Given the description of an element on the screen output the (x, y) to click on. 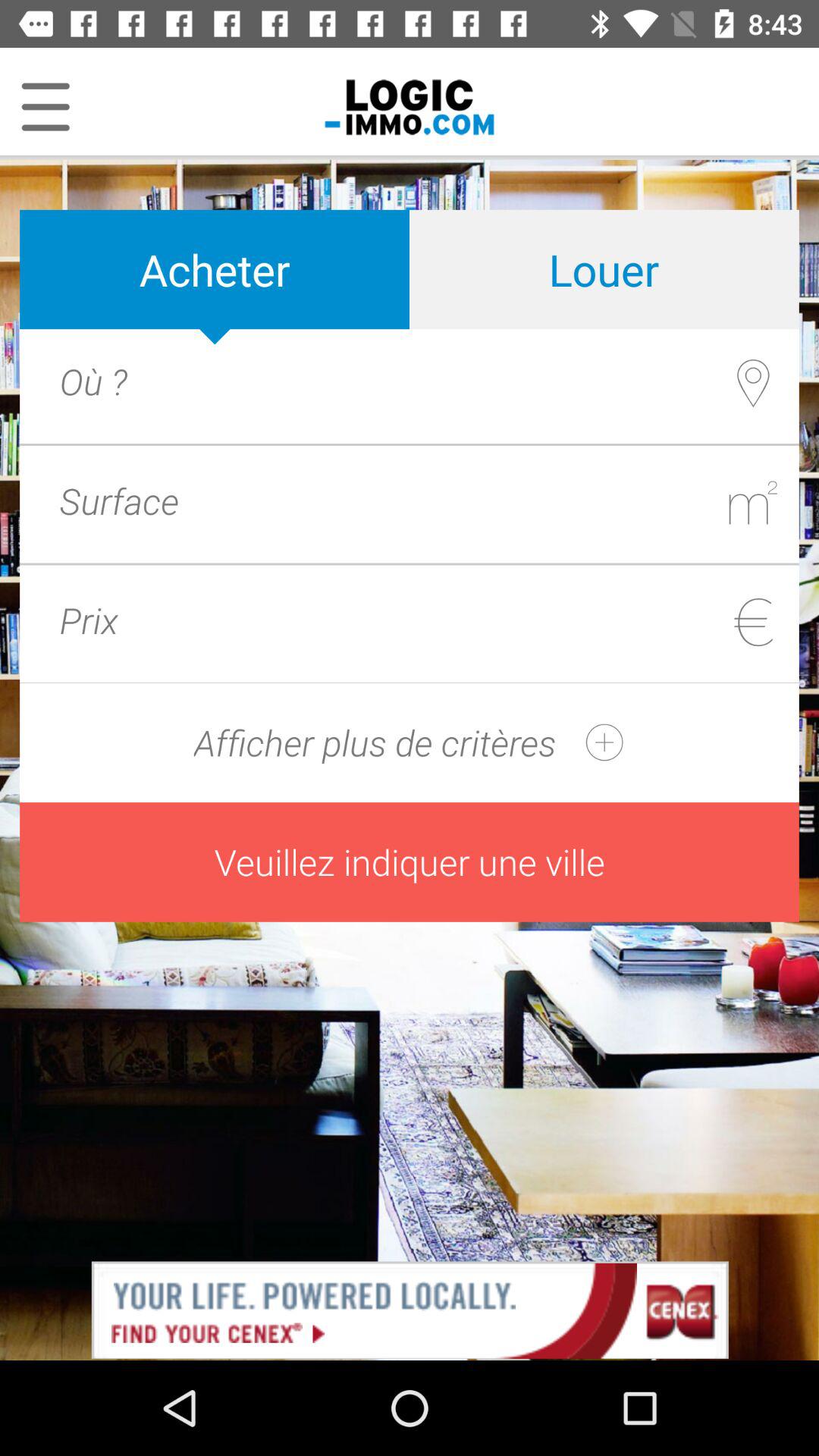
click the advertisement (409, 1308)
